Given the description of an element on the screen output the (x, y) to click on. 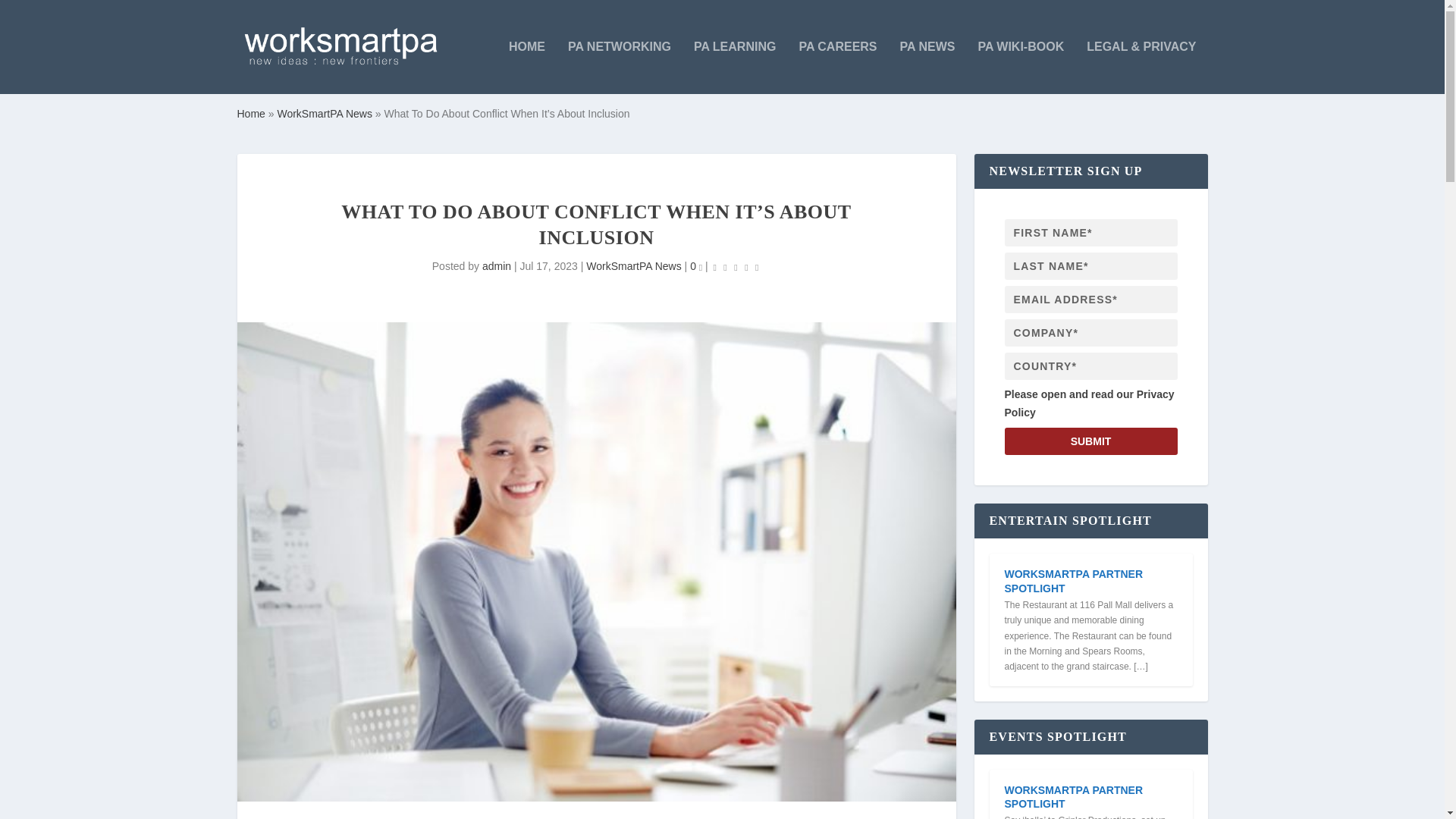
Go to the WorkSmartPA News category archives. (324, 113)
HOME (526, 67)
Go to worksmartpa. (249, 113)
Home (249, 113)
Submit (1090, 441)
PA LEARNING (735, 67)
WorkSmartPA News (324, 113)
PA CAREERS (836, 67)
Posts by admin (496, 265)
PA NEWS (927, 67)
PA NETWORKING (619, 67)
WorkSmartPA News (633, 265)
PA WIKI-BOOK (1020, 67)
admin (496, 265)
0 (695, 265)
